Given the description of an element on the screen output the (x, y) to click on. 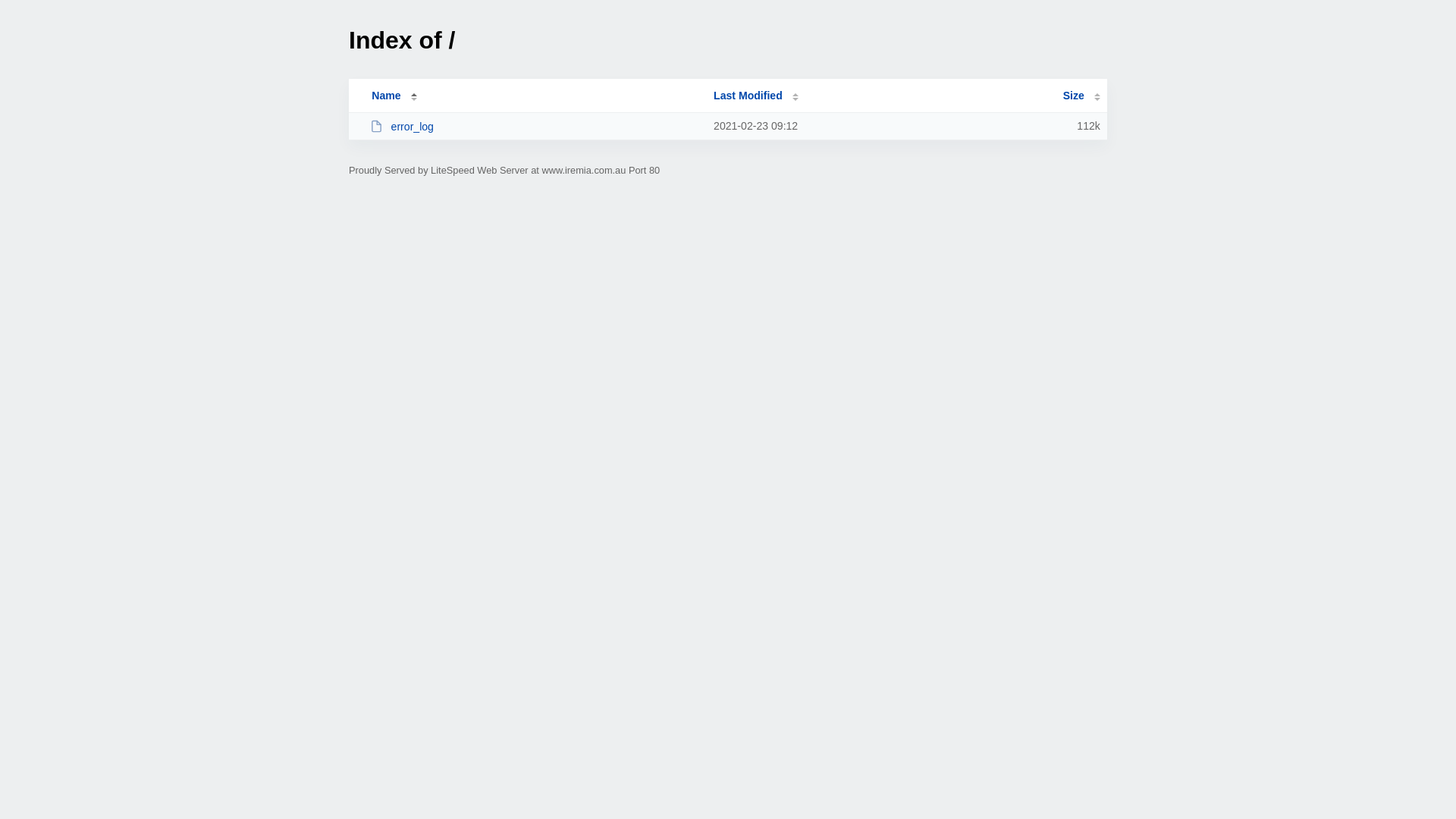
error_log Element type: text (534, 125)
Size Element type: text (1081, 95)
Name Element type: text (385, 95)
Last Modified Element type: text (755, 95)
